Given the description of an element on the screen output the (x, y) to click on. 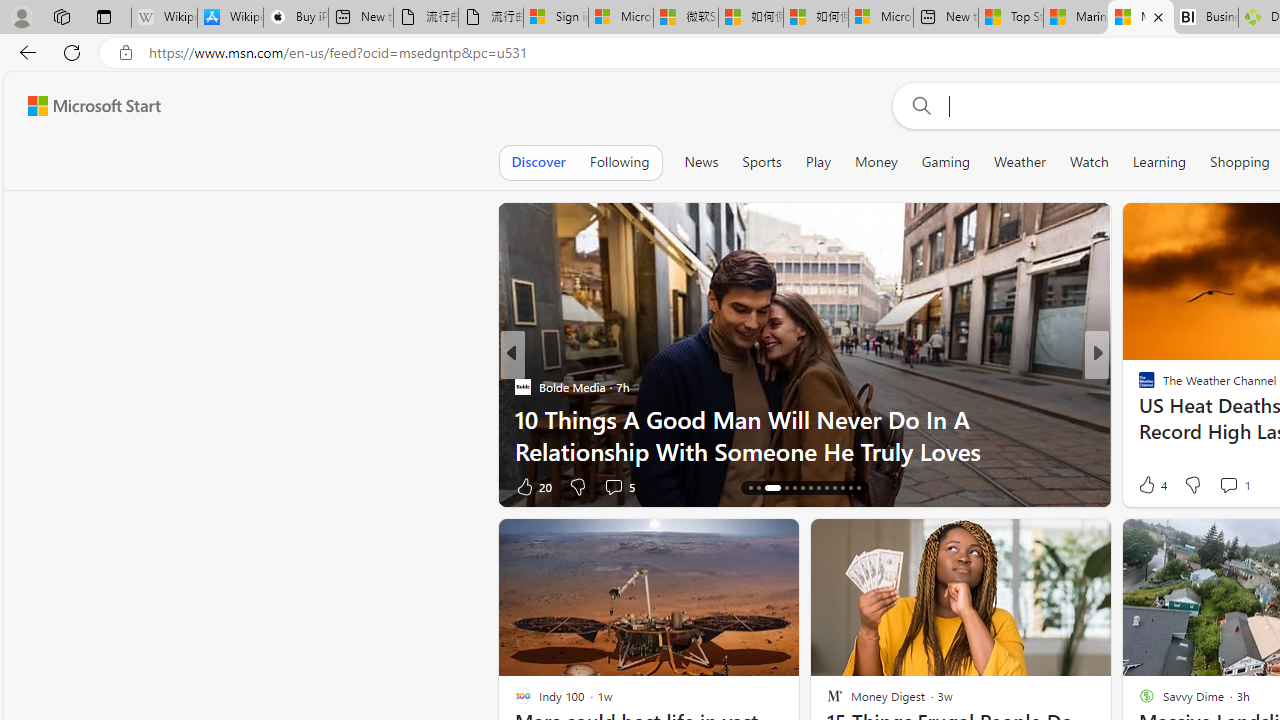
Microsoft account | Account Checkup (880, 17)
AutomationID: tab-18 (793, 487)
The Register (1138, 418)
View comments 339 Comment (1234, 485)
AutomationID: tab-24 (842, 487)
This story is trending (1057, 490)
3 Like (1145, 486)
Learning (1159, 162)
AutomationID: tab-20 (810, 487)
Gaming (945, 161)
View comments 1k Comment (620, 486)
